Given the description of an element on the screen output the (x, y) to click on. 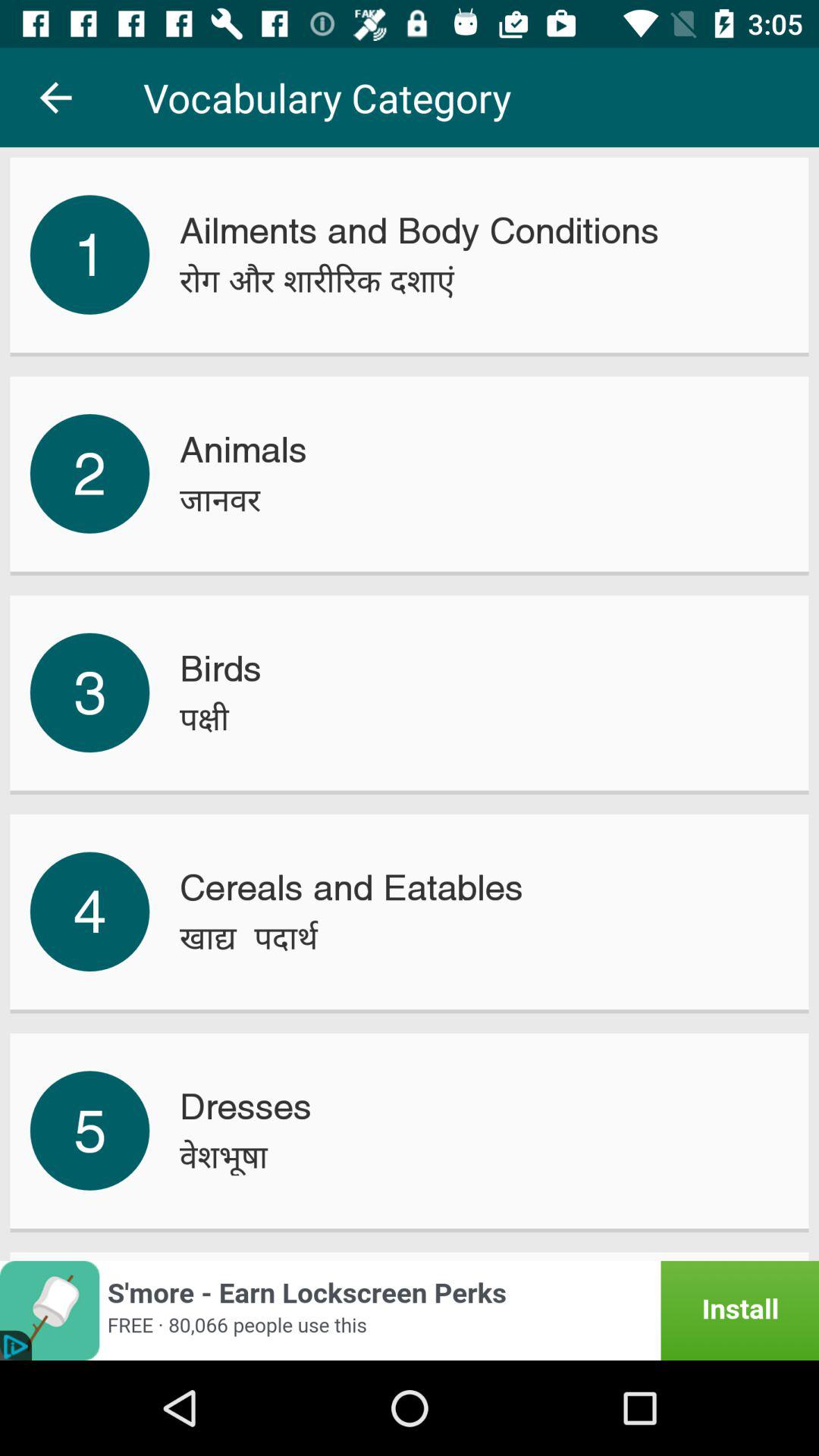
turn off item to the right of 1 item (316, 280)
